Given the description of an element on the screen output the (x, y) to click on. 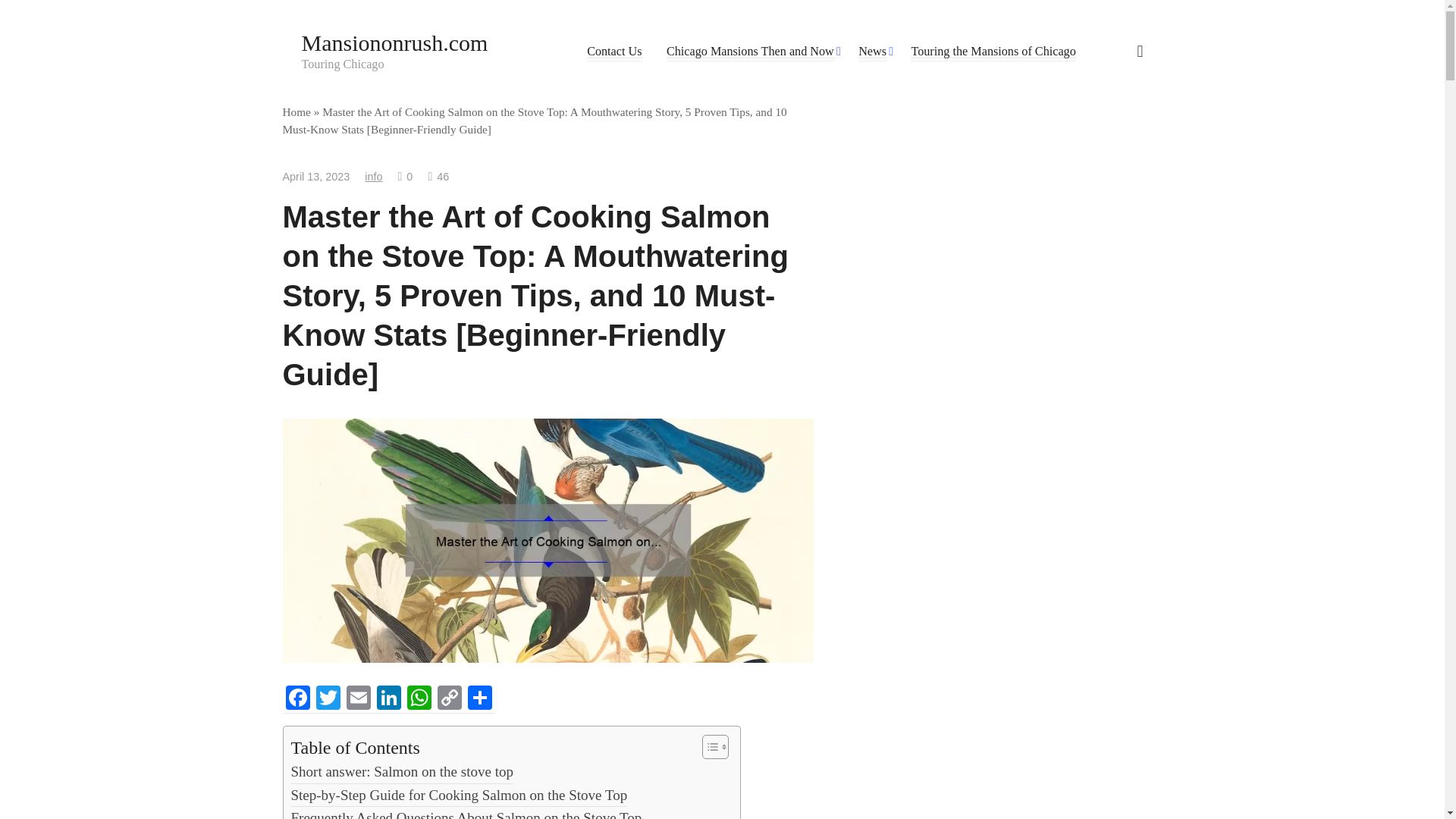
Short answer: Salmon on the stove top (402, 771)
info (373, 176)
Email (357, 699)
LinkedIn (387, 699)
Contact Us (614, 51)
Twitter (327, 699)
Touring the Mansions of Chicago (993, 51)
WhatsApp (459, 794)
Email (418, 699)
Twitter (357, 699)
LinkedIn (327, 699)
Mansiononrush.com (387, 699)
Facebook (394, 42)
Chicago Mansions Then and Now (297, 699)
